Given the description of an element on the screen output the (x, y) to click on. 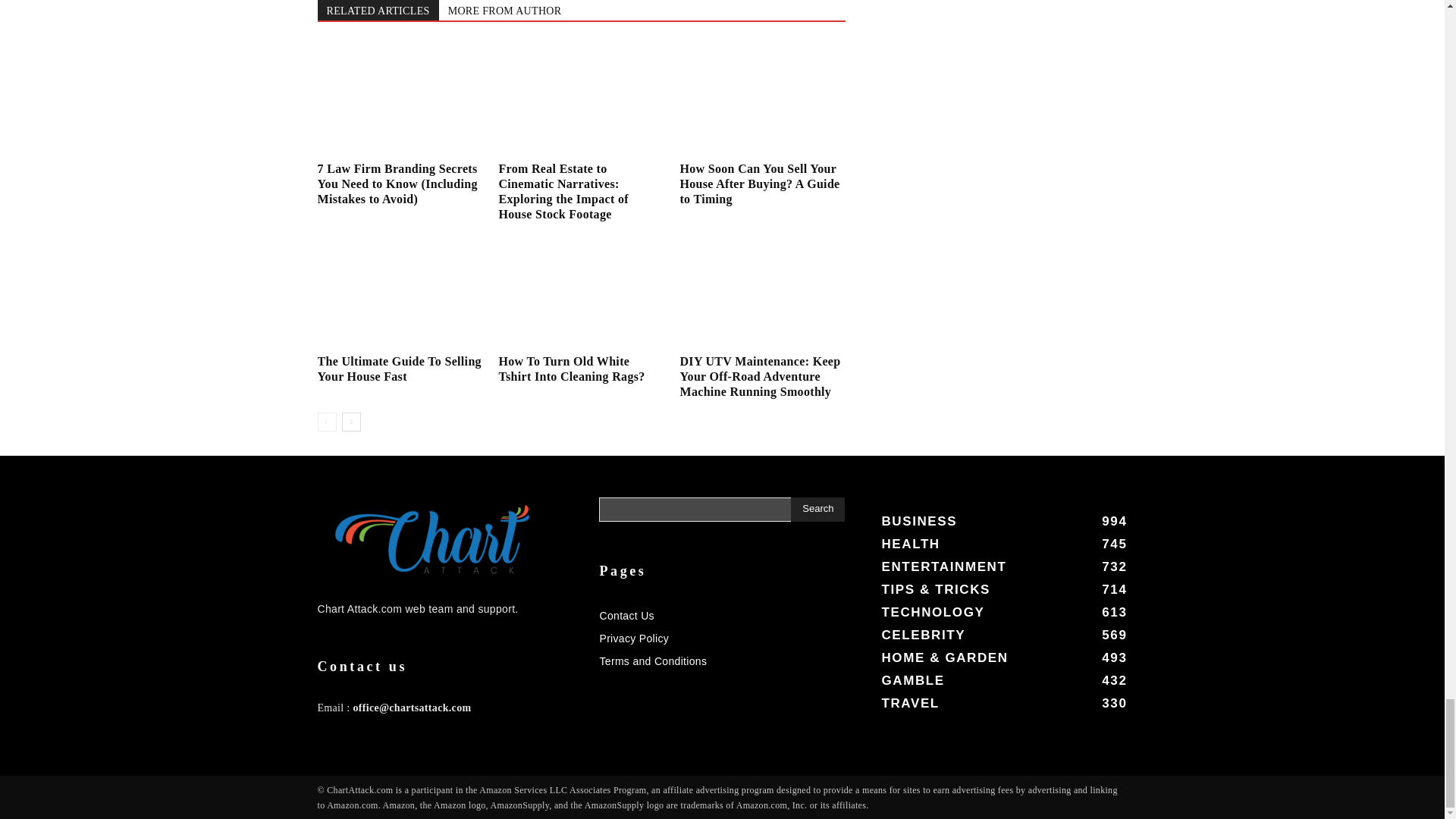
Search (817, 509)
